Given the description of an element on the screen output the (x, y) to click on. 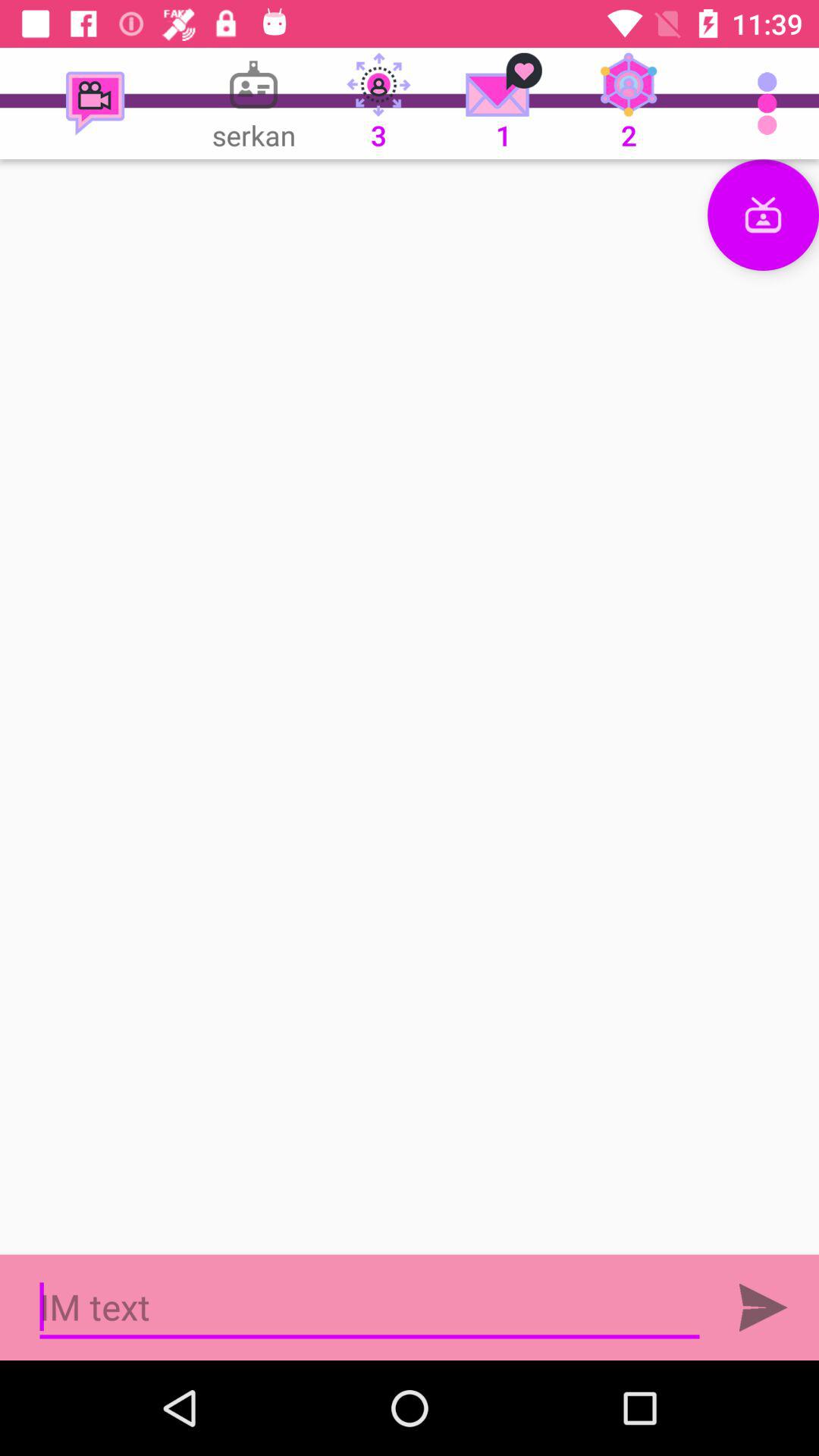
send message (763, 1307)
